Given the description of an element on the screen output the (x, y) to click on. 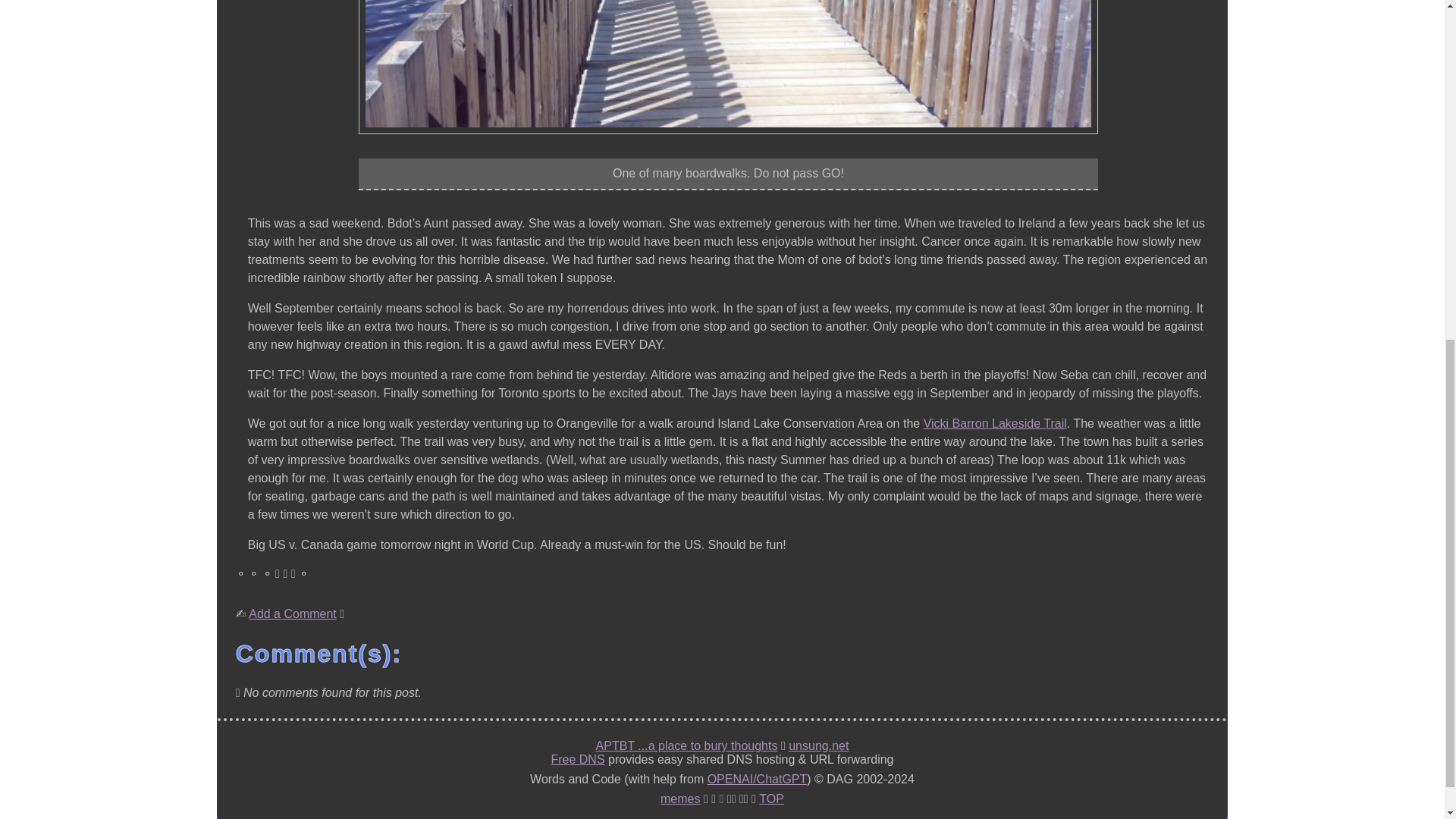
memes (680, 798)
APTBT ...a place to bury thoughts (686, 745)
Add a Comment (292, 613)
One of many boardwalks. Do not pass GO! (727, 67)
unsung.net (818, 745)
Free DNS (577, 759)
TOP (771, 798)
Vicki Barron Lakeside Trail (995, 423)
